Given the description of an element on the screen output the (x, y) to click on. 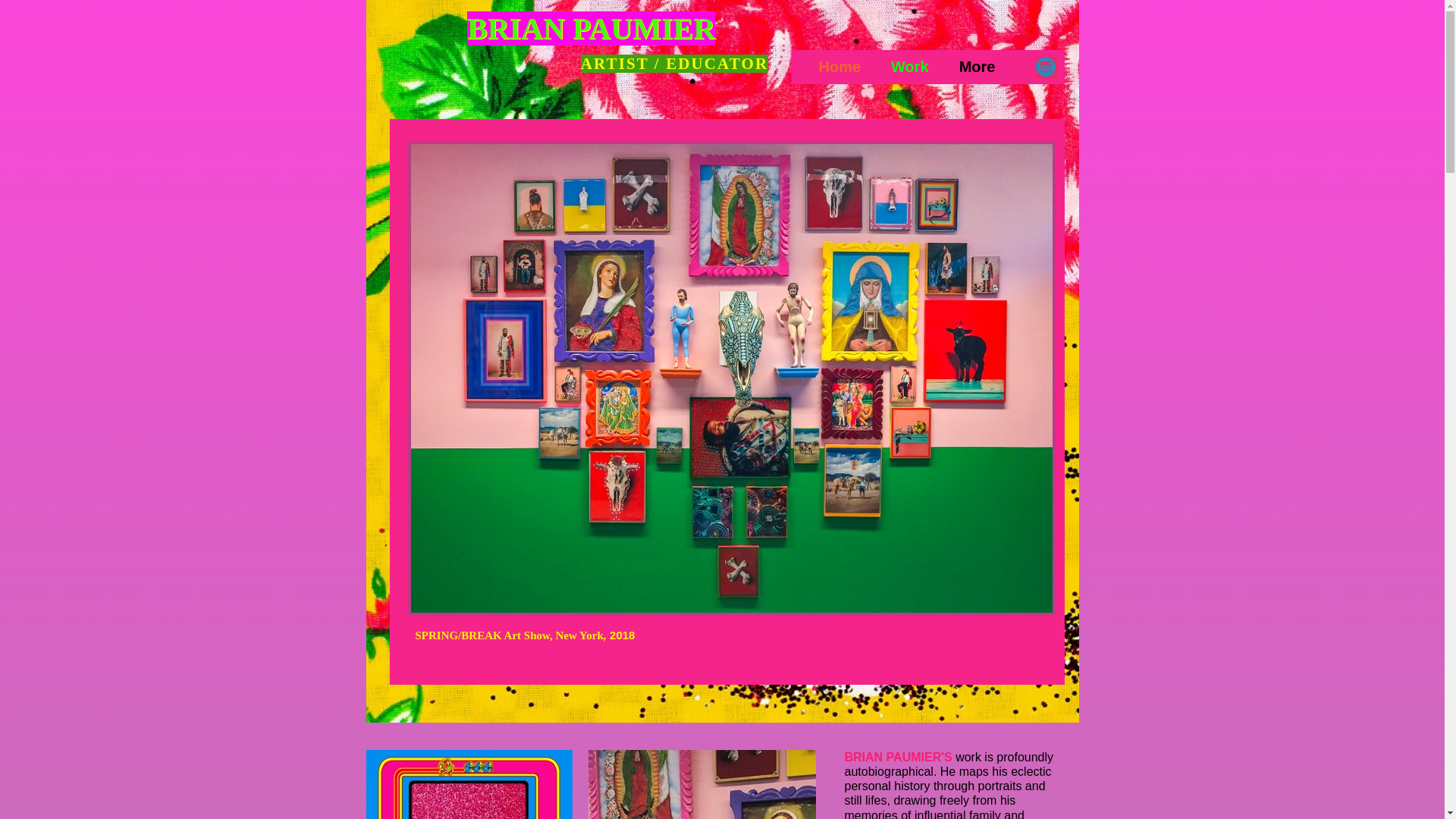
Work (909, 66)
More (986, 66)
Home (839, 66)
